Given the description of an element on the screen output the (x, y) to click on. 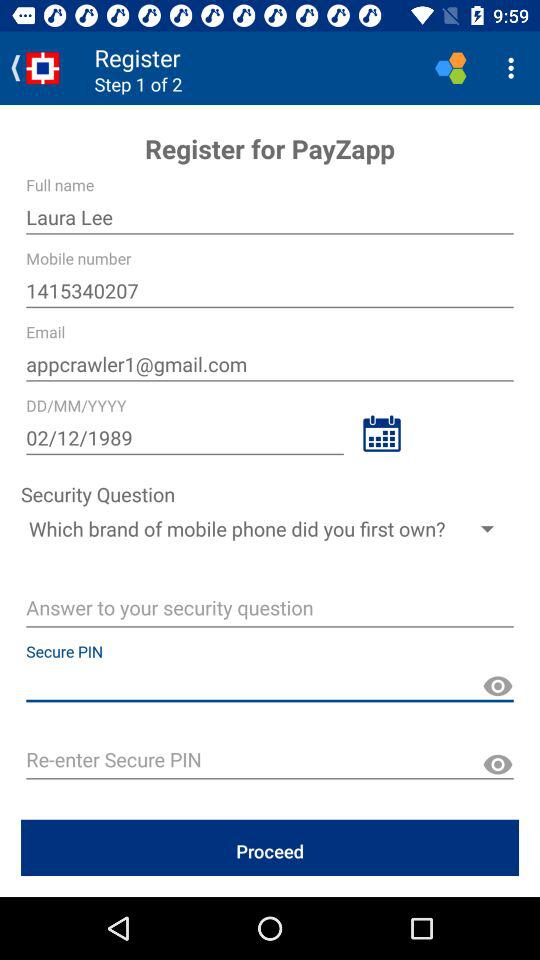
open a calendar (381, 433)
